Given the description of an element on the screen output the (x, y) to click on. 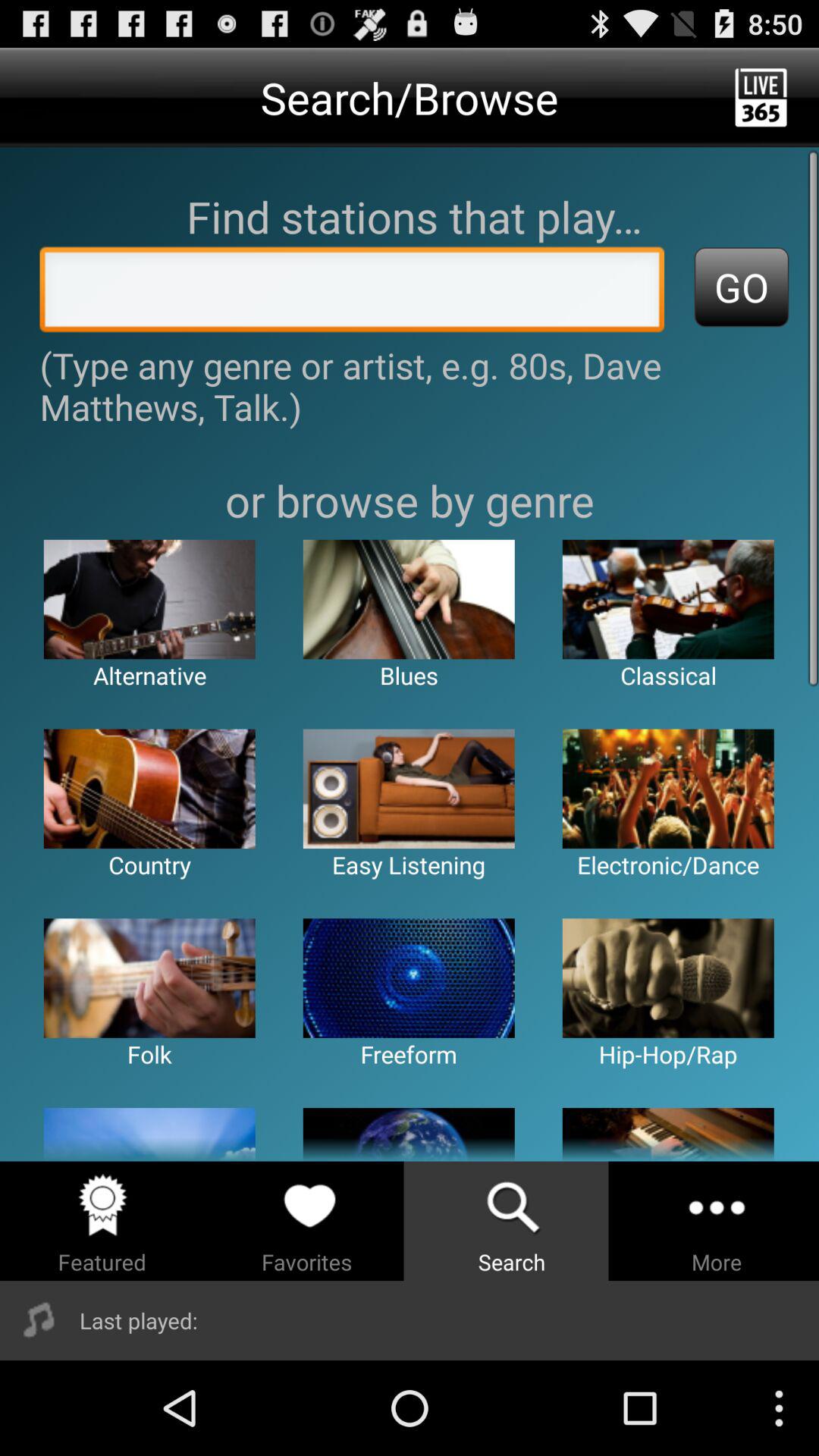
enter search query (351, 293)
